Given the description of an element on the screen output the (x, y) to click on. 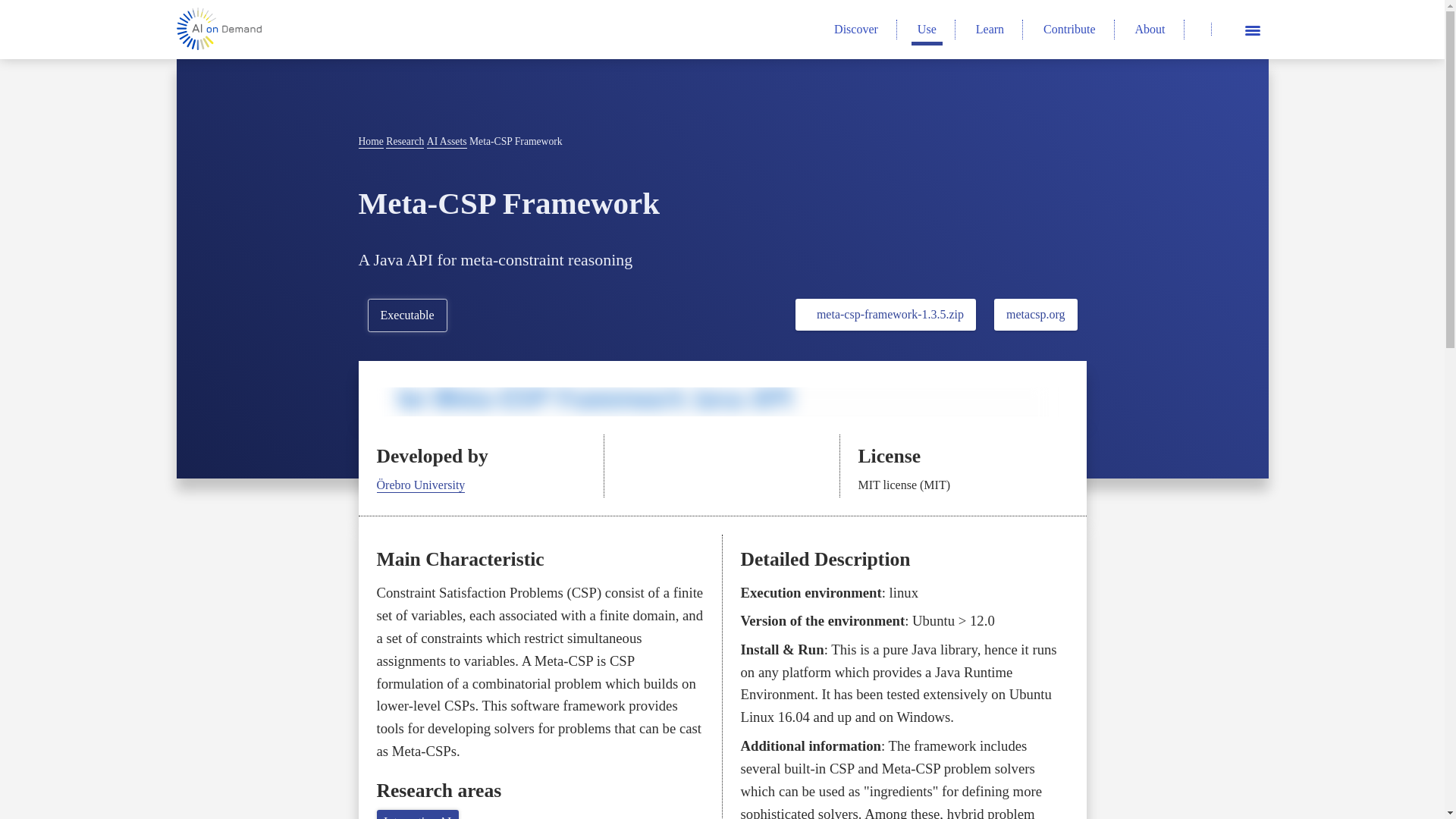
Research (404, 141)
meta-csp-framework-1.3.5.zip (884, 314)
Search (1197, 28)
metacsp.org (1035, 314)
Executable (406, 315)
Integrative AI (416, 814)
Log in (1221, 28)
Menu (1251, 28)
AI Assets (446, 141)
Home (370, 141)
